Given the description of an element on the screen output the (x, y) to click on. 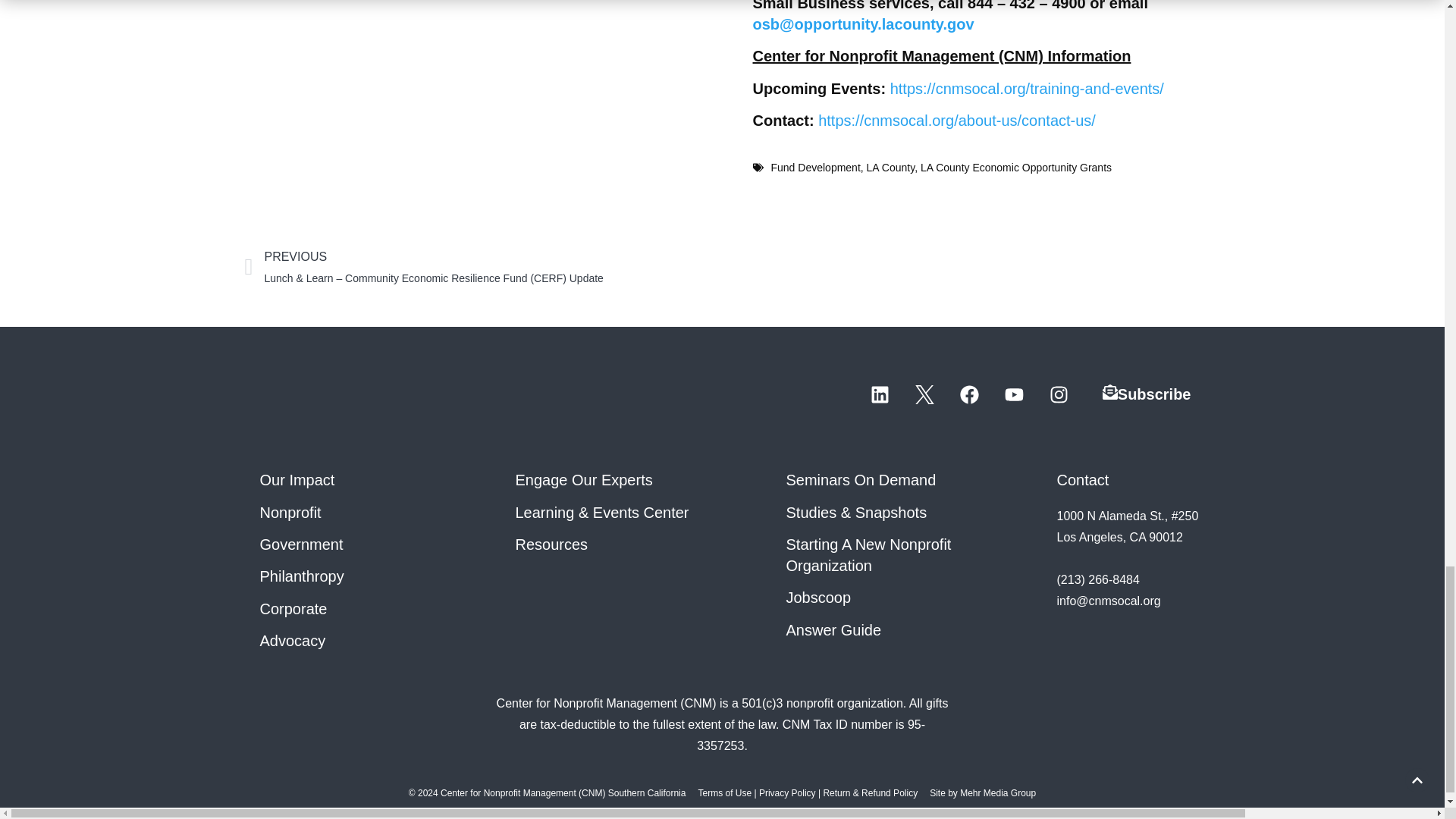
Center for Nonprofit Management (338, 394)
